Given the description of an element on the screen output the (x, y) to click on. 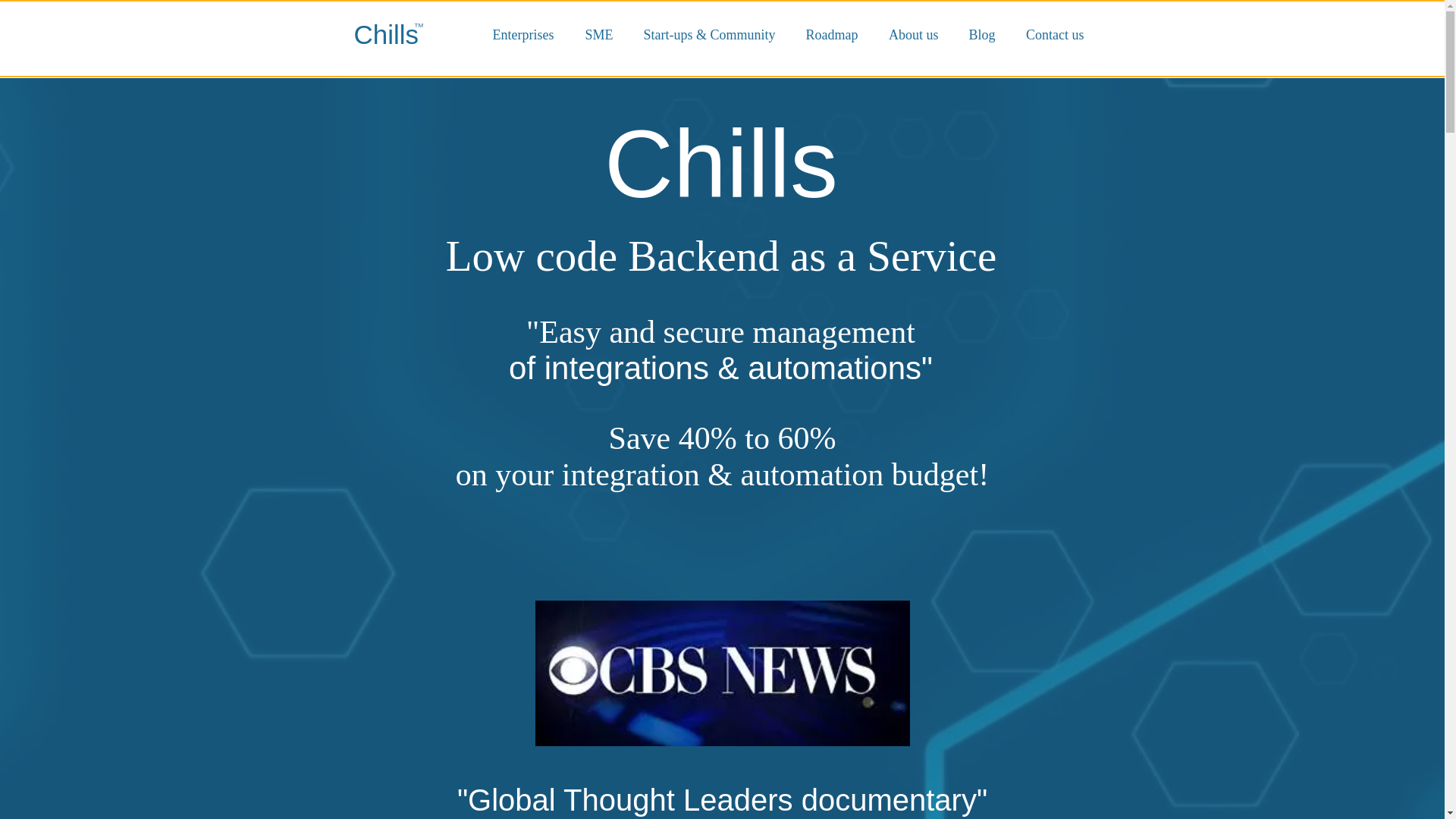
SME (590, 27)
Chills (386, 34)
Enterprises (514, 27)
Contact us (1046, 27)
TM (418, 25)
About us (906, 27)
Roadmap (823, 27)
Blog (974, 27)
